Given the description of an element on the screen output the (x, y) to click on. 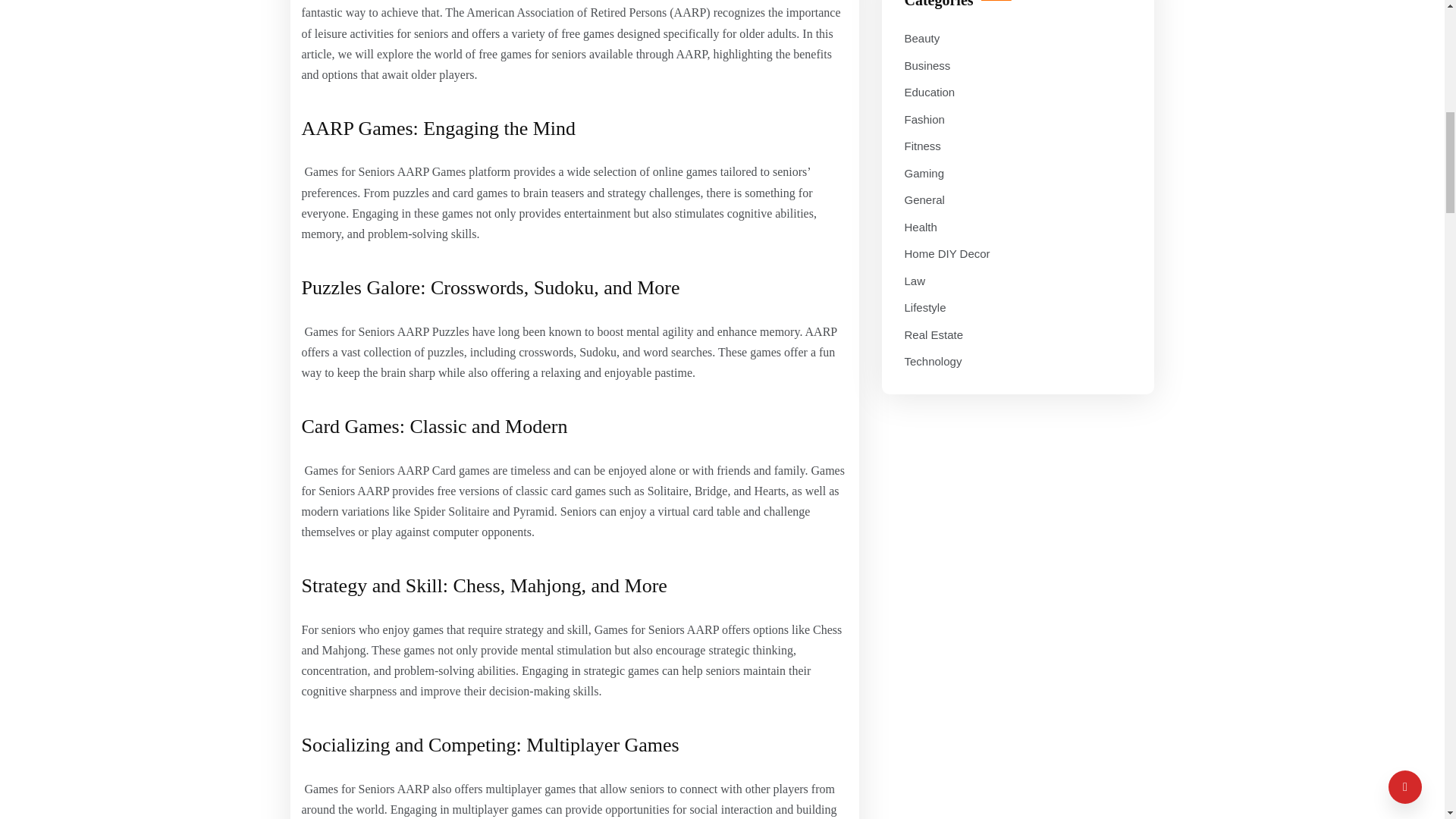
Education (929, 92)
Fitness (922, 146)
Beauty (921, 38)
Business (927, 66)
Fashion (923, 119)
